Given the description of an element on the screen output the (x, y) to click on. 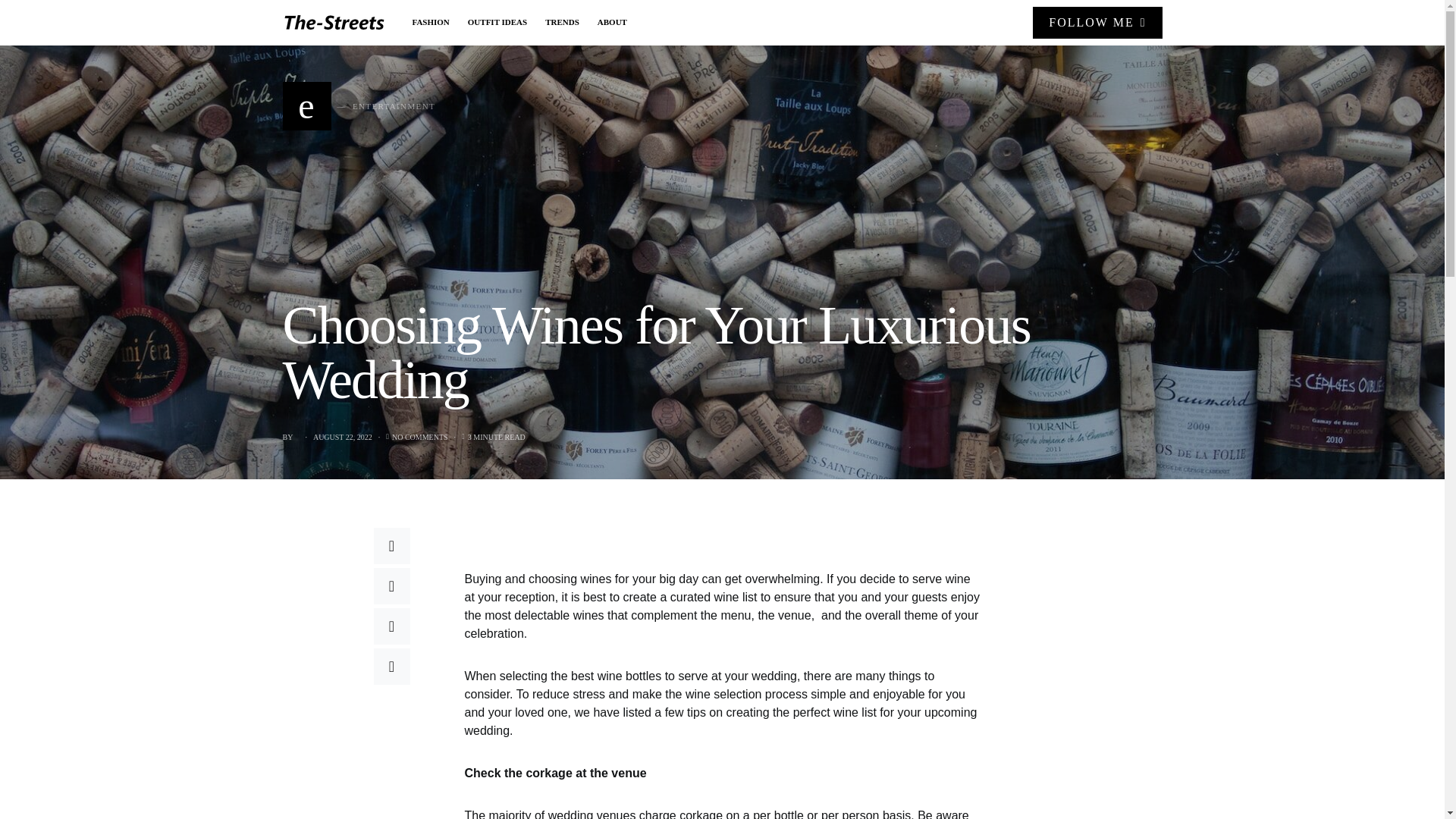
OUTFIT IDEAS (496, 22)
NO COMMENTS (419, 436)
FASHION (435, 22)
TRENDS (561, 22)
FOLLOW ME (358, 105)
